Given the description of an element on the screen output the (x, y) to click on. 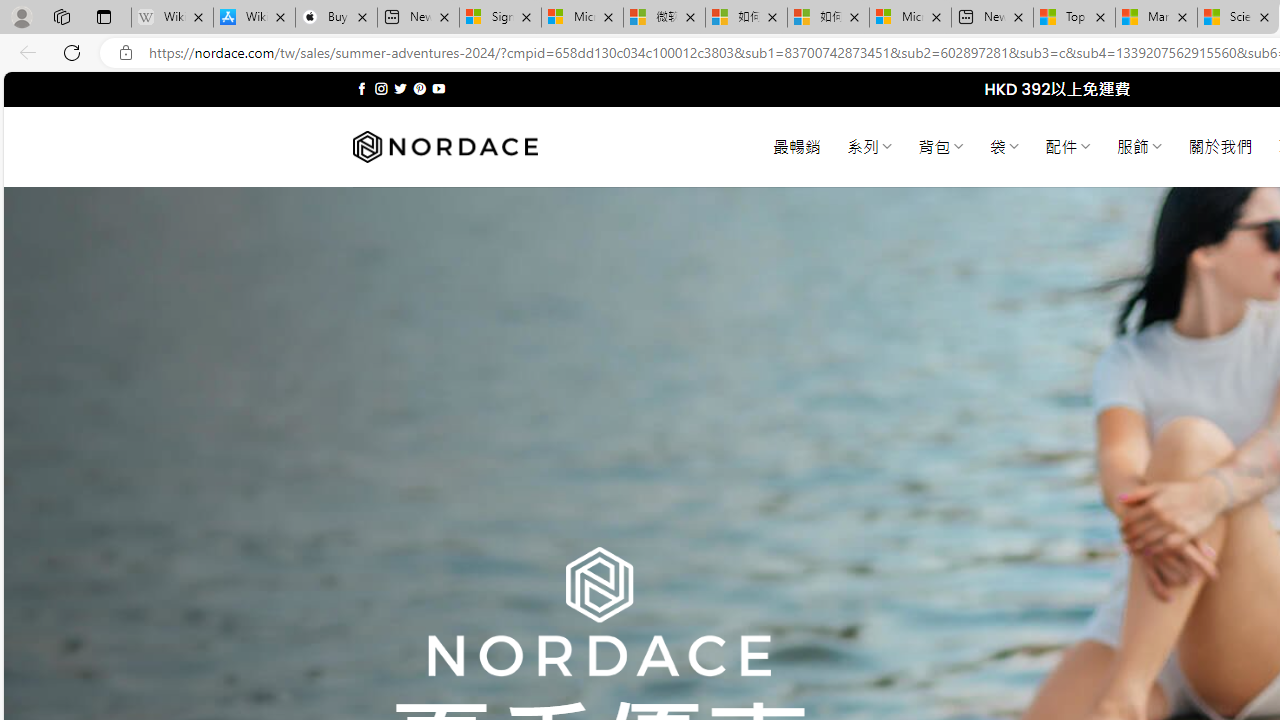
Top Stories - MSN (1074, 17)
Nordace (444, 147)
Buy iPad - Apple (336, 17)
Follow on Instagram (381, 88)
Follow on Facebook (361, 88)
Microsoft account | Account Checkup (910, 17)
